Given the description of an element on the screen output the (x, y) to click on. 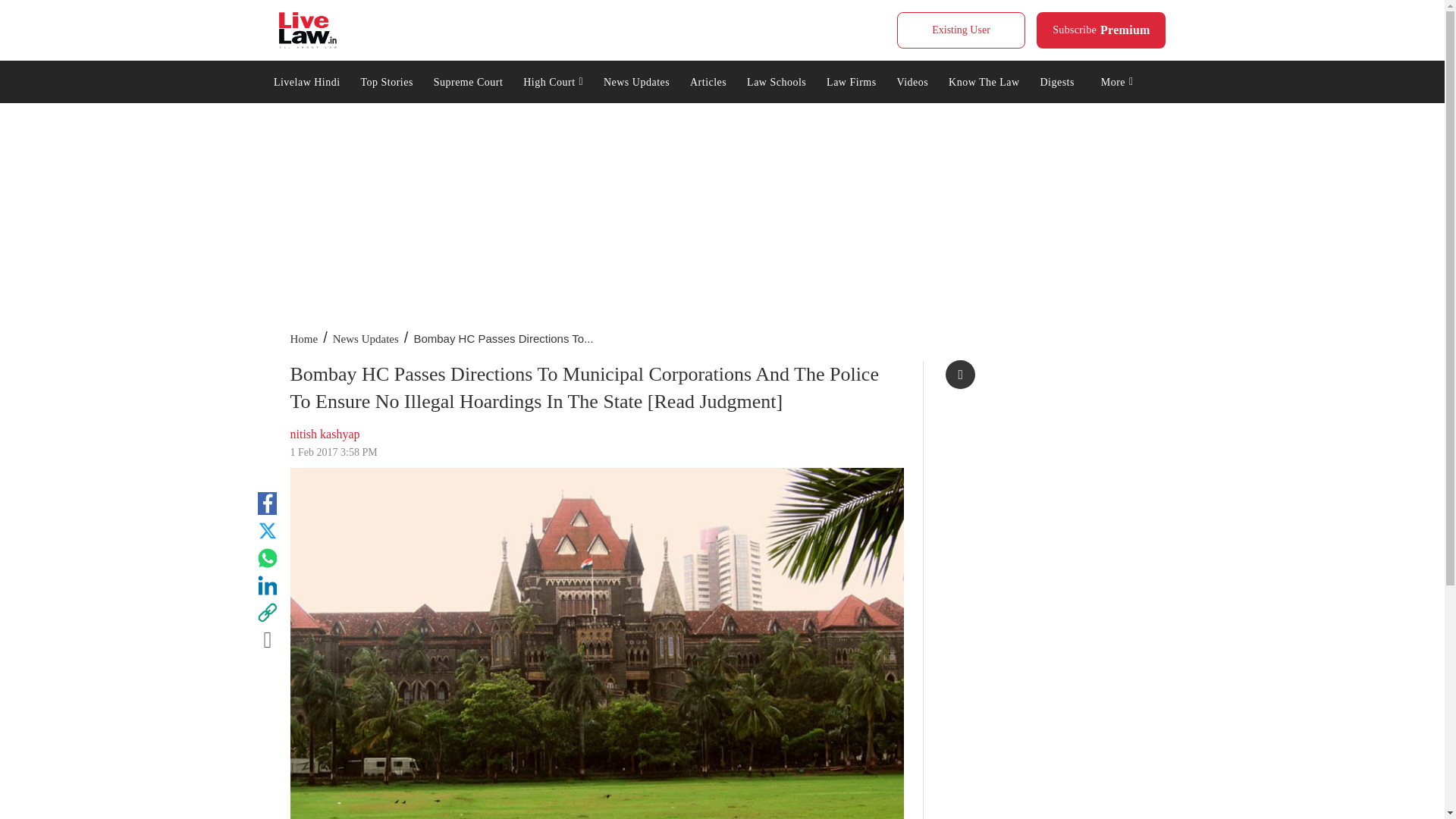
High Court (1101, 30)
Top Stories (553, 80)
Livelaw Hindi (386, 80)
Supreme Court (306, 80)
Existing User (467, 80)
Live Law (960, 30)
